Given the description of an element on the screen output the (x, y) to click on. 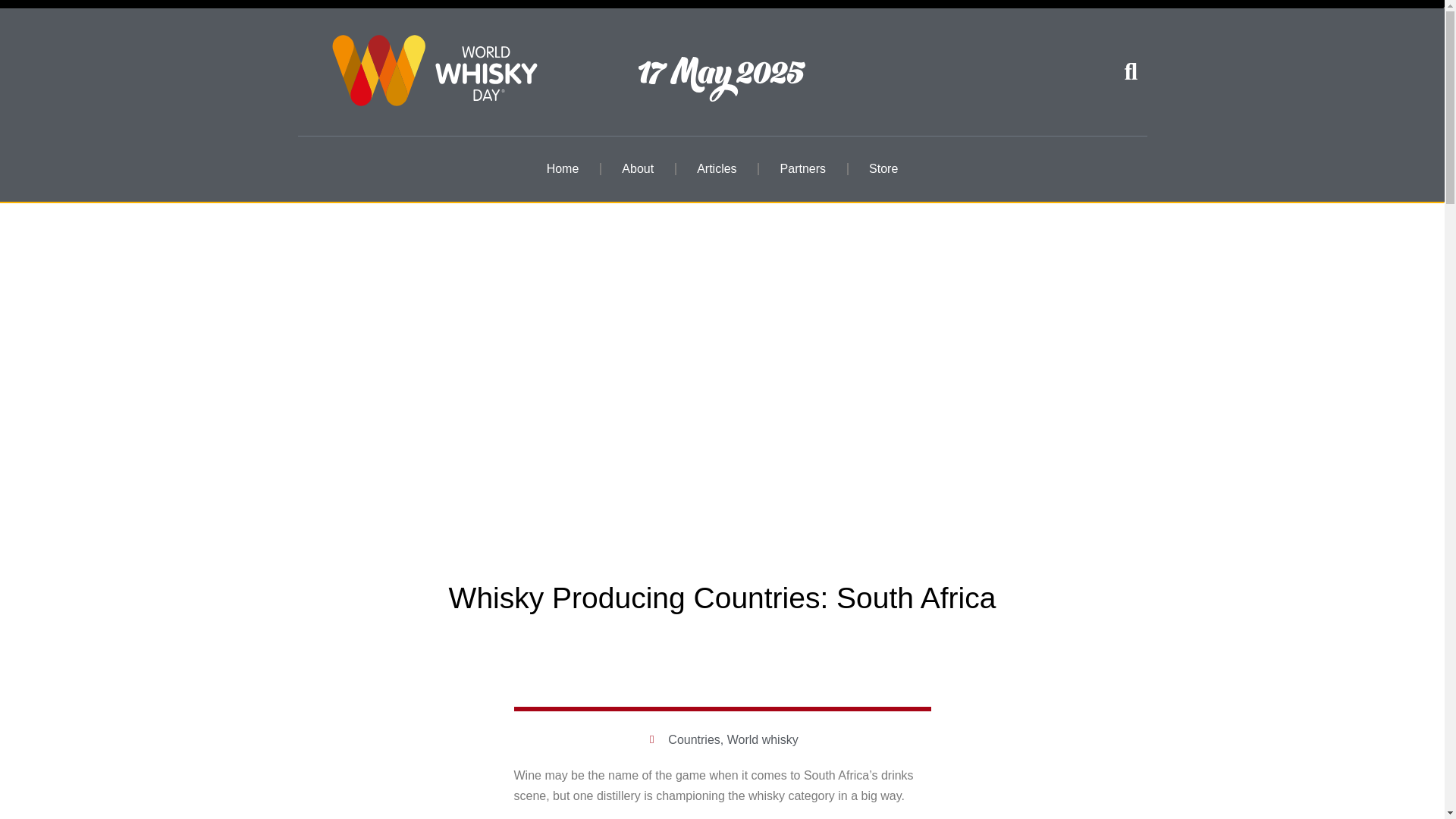
Partners (803, 168)
Countries (693, 739)
World whisky (761, 739)
Home (562, 168)
Articles (716, 168)
Store (882, 168)
About (637, 168)
